Given the description of an element on the screen output the (x, y) to click on. 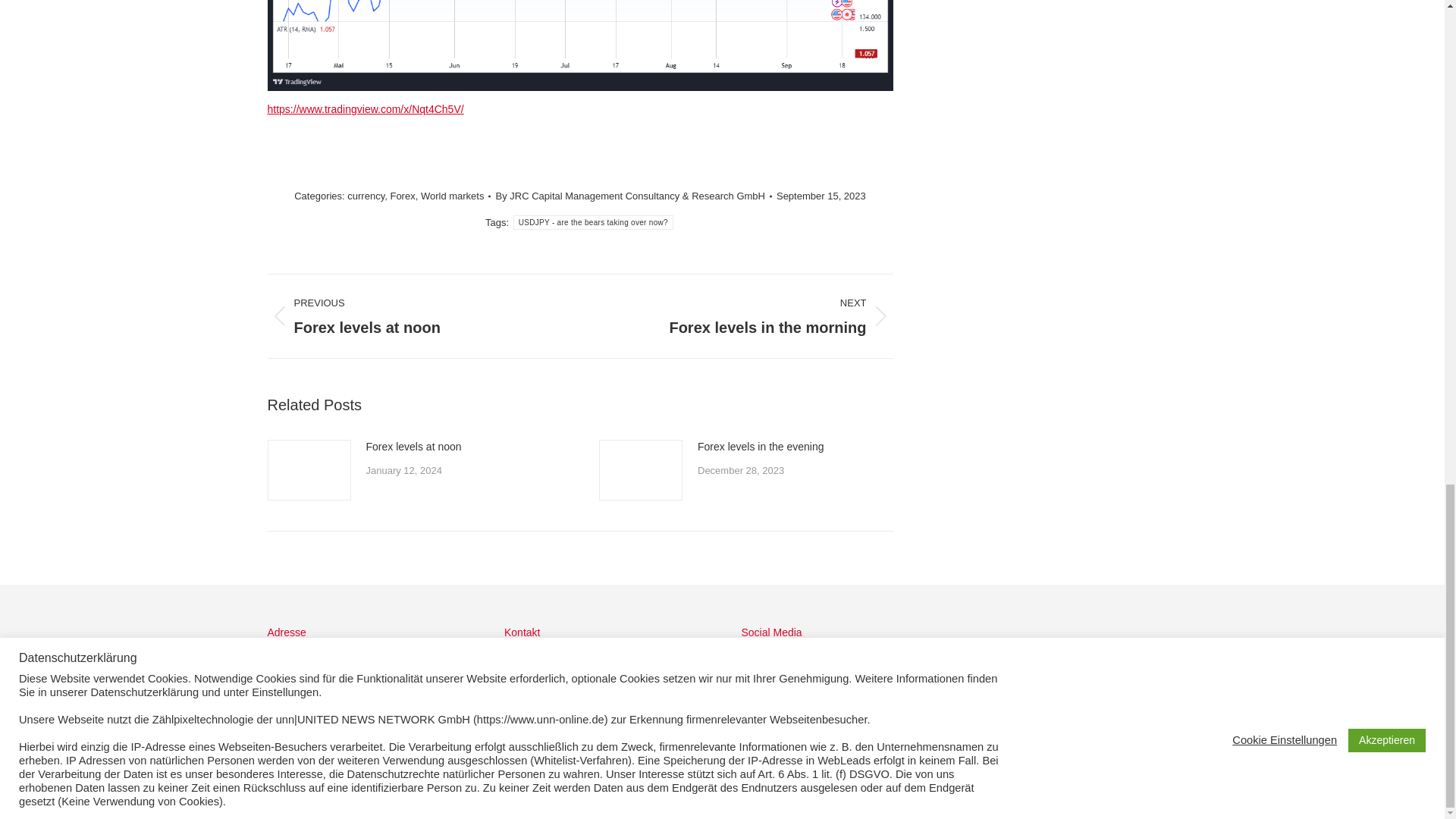
12:28 pm (821, 195)
